Given the description of an element on the screen output the (x, y) to click on. 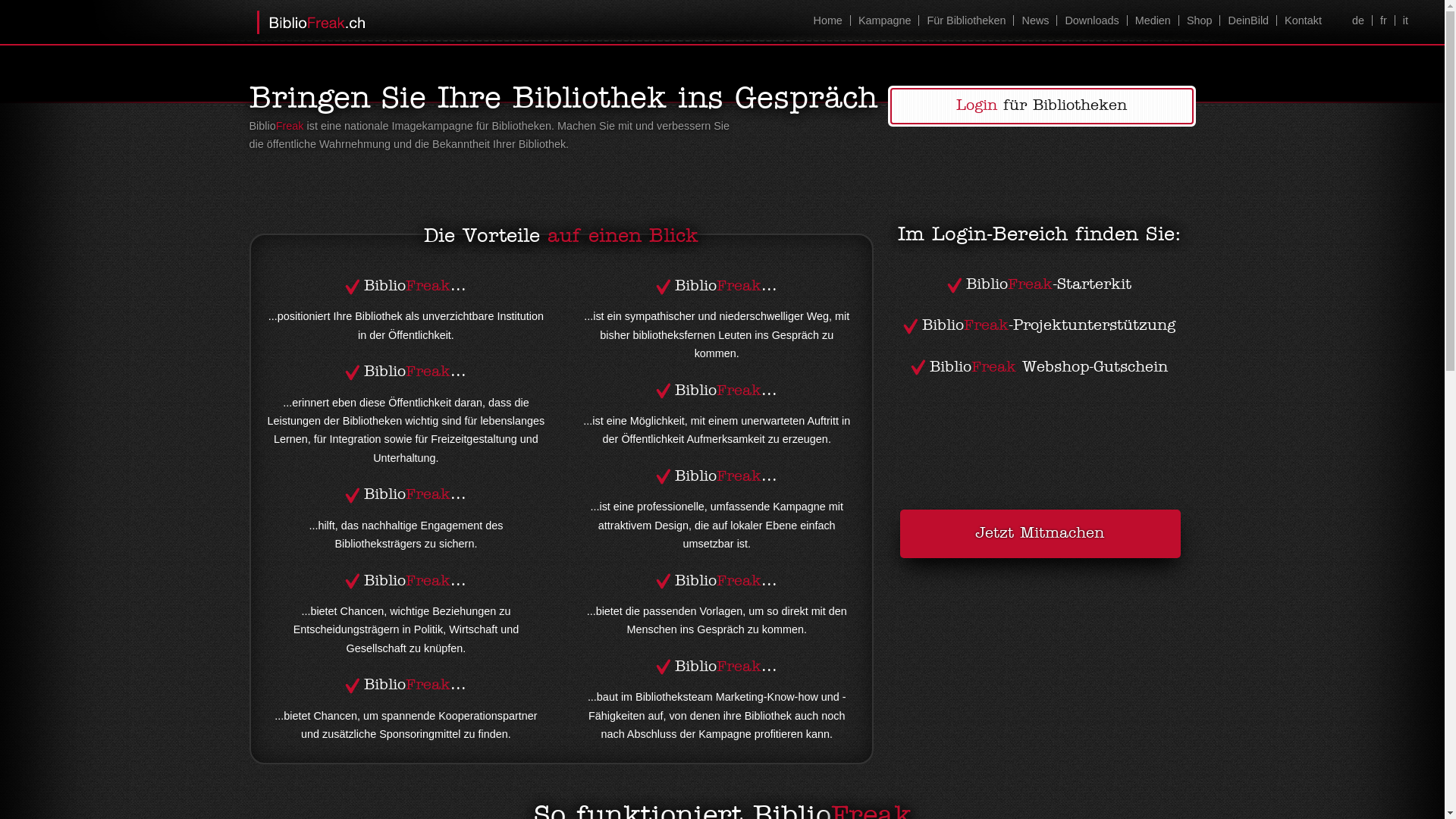
Im Login-Bereich finden Sie: Element type: text (1039, 234)
Jetzt Mitmachen Element type: text (1040, 533)
fr Element type: text (1382, 20)
Shop Element type: text (1199, 20)
Kampagne Element type: text (884, 20)
Downloads Element type: text (1091, 20)
de Element type: text (1357, 20)
Kontakt Element type: text (1302, 20)
it Element type: text (1404, 20)
Medien Element type: text (1152, 20)
News Element type: text (1034, 20)
Die Vorteile auf einen Blick Element type: text (560, 236)
DeinBild Element type: text (1247, 20)
Home Element type: text (827, 20)
